Given the description of an element on the screen output the (x, y) to click on. 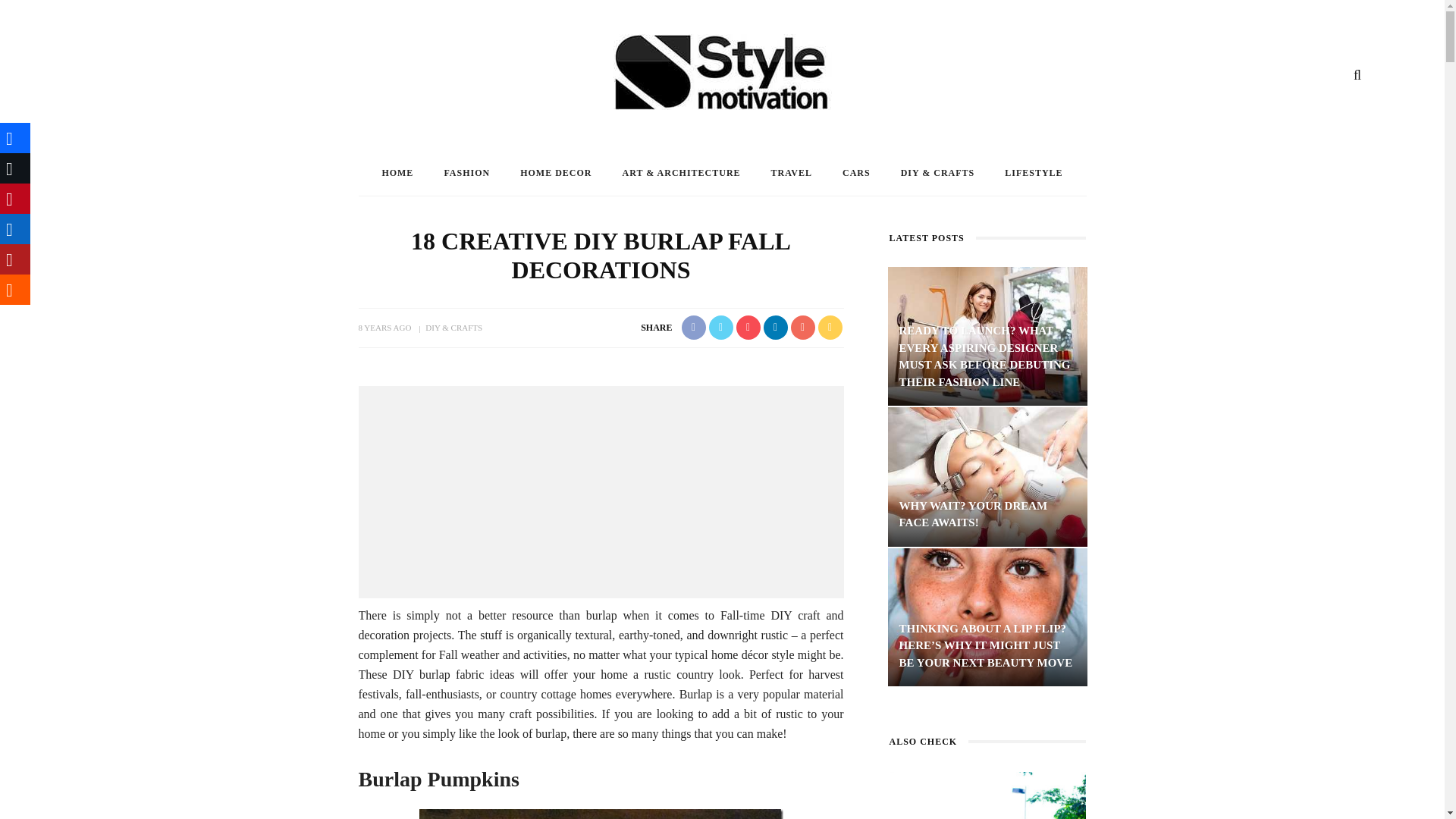
confessionsofaplateaddict.blogspot.mk (601, 814)
HOME DECOR (556, 172)
TRAVEL (791, 172)
Advertisement (600, 491)
FASHION (466, 172)
LIFESTYLE (1033, 172)
HOME (397, 172)
CARS (856, 172)
